Given the description of an element on the screen output the (x, y) to click on. 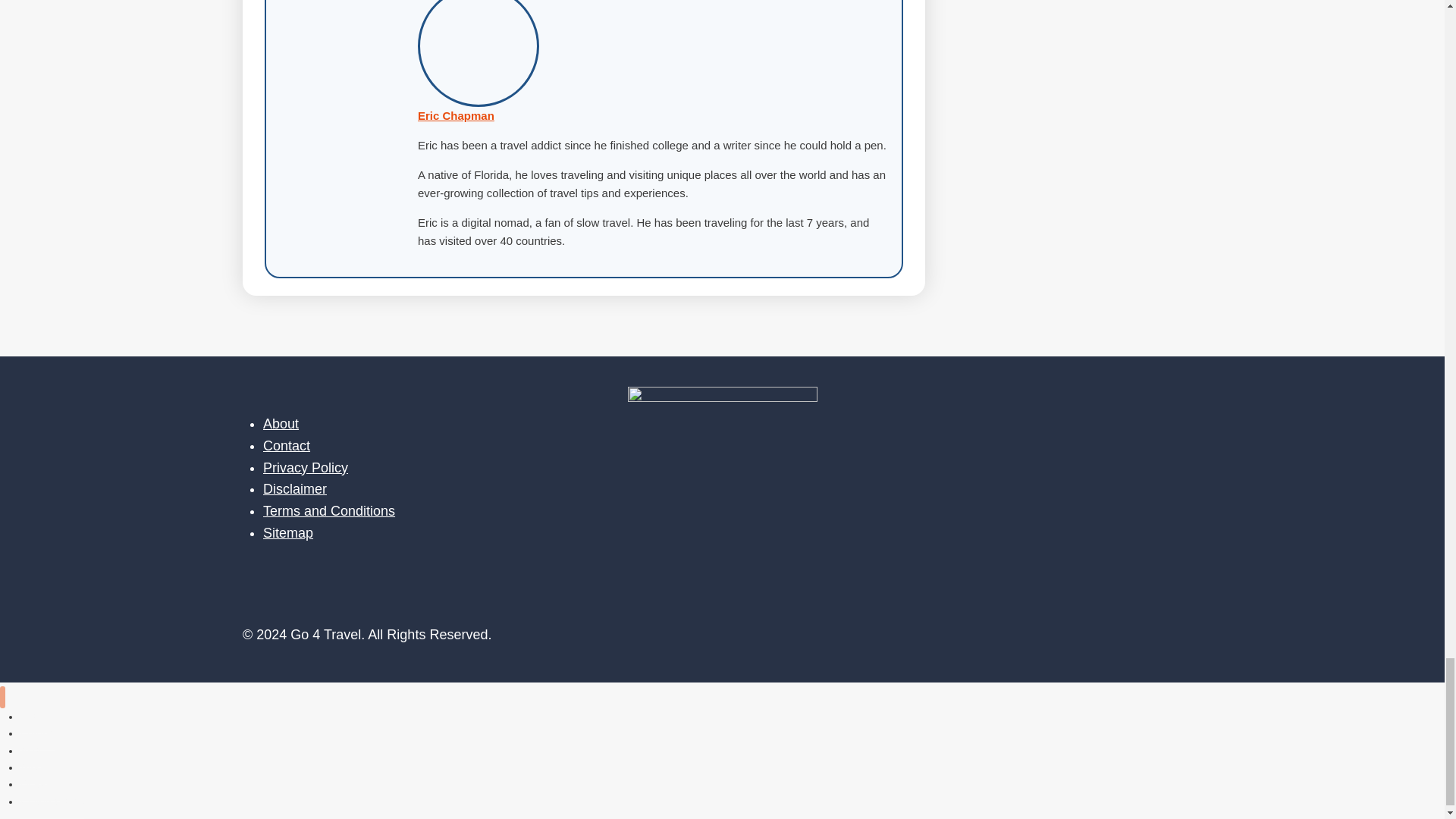
Eric Chapman (456, 115)
Terms and Conditions (328, 510)
Privacy Policy (305, 467)
Contact (286, 445)
Disclaimer (294, 488)
Posts by Eric Chapman (456, 115)
About (280, 423)
